Given the description of an element on the screen output the (x, y) to click on. 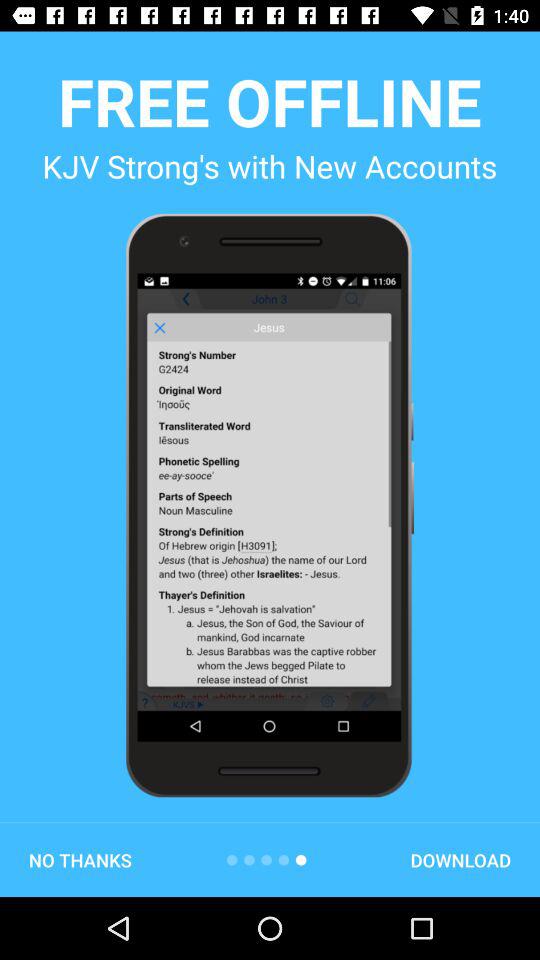
turn on app above kjv strong s item (269, 101)
